Given the description of an element on the screen output the (x, y) to click on. 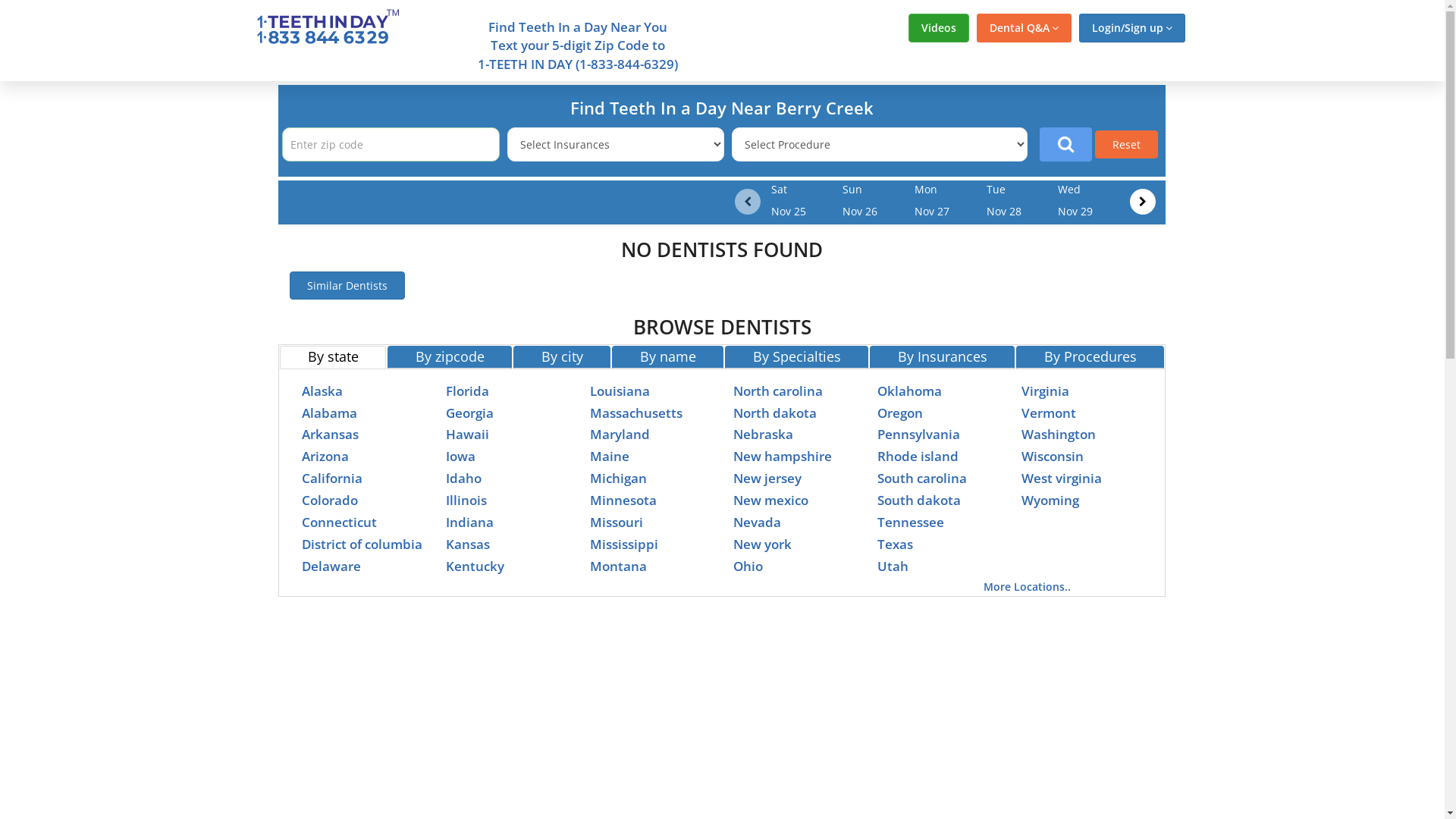
Alabama Element type: text (329, 412)
South carolina Element type: text (921, 477)
Wisconsin Element type: text (1052, 455)
New mexico Element type: text (770, 499)
Indiana Element type: text (469, 521)
Wyoming Element type: text (1050, 499)
New jersey Element type: text (767, 477)
Mississippi Element type: text (623, 543)
California Element type: text (331, 477)
By Procedures Element type: text (1090, 356)
By zipcode Element type: text (449, 356)
Michigan Element type: text (617, 477)
By name Element type: text (667, 356)
Maine Element type: text (609, 455)
By state Element type: text (332, 356)
More Locations.. Element type: text (1026, 586)
Advertisement Element type: hover (129, 308)
Utah Element type: text (892, 565)
Missouri Element type: text (616, 521)
North dakota Element type: text (774, 412)
District of columbia Element type: text (361, 543)
Ohio Element type: text (747, 565)
Florida Element type: text (467, 390)
Georgia Element type: text (469, 412)
Dental Q&A Element type: text (1023, 27)
Illinois Element type: text (465, 499)
Kansas Element type: text (467, 543)
Louisiana Element type: text (619, 390)
By Insurances Element type: text (941, 356)
Texas Element type: text (895, 543)
Reset Element type: text (1126, 144)
Hawaii Element type: text (467, 433)
West virginia Element type: text (1061, 477)
Kentucky Element type: text (474, 565)
Delaware Element type: text (330, 565)
South dakota Element type: text (918, 499)
Idaho Element type: text (463, 477)
Login/Sign up Element type: text (1131, 27)
Colorado Element type: text (329, 499)
Rhode island Element type: text (917, 455)
Nevada Element type: text (757, 521)
Nebraska Element type: text (763, 433)
Minnesota Element type: text (622, 499)
Vermont Element type: text (1048, 412)
Oklahoma Element type: text (909, 390)
Virginia Element type: text (1045, 390)
By Specialties Element type: text (796, 356)
New hampshire Element type: text (782, 455)
Pennsylvania Element type: text (918, 433)
Maryland Element type: text (619, 433)
Washington Element type: text (1058, 433)
Tennessee Element type: text (910, 521)
Connecticut Element type: text (338, 521)
By city Element type: text (561, 356)
Alaska Element type: text (321, 390)
Similar Dentists Element type: text (346, 285)
North carolina Element type: text (777, 390)
New york Element type: text (762, 543)
Massachusetts Element type: text (635, 412)
Advertisement Element type: hover (1313, 308)
Oregon Element type: text (899, 412)
Iowa Element type: text (460, 455)
Montana Element type: text (617, 565)
Arkansas Element type: text (329, 433)
Videos Element type: text (938, 27)
Arizona Element type: text (324, 455)
